Given the description of an element on the screen output the (x, y) to click on. 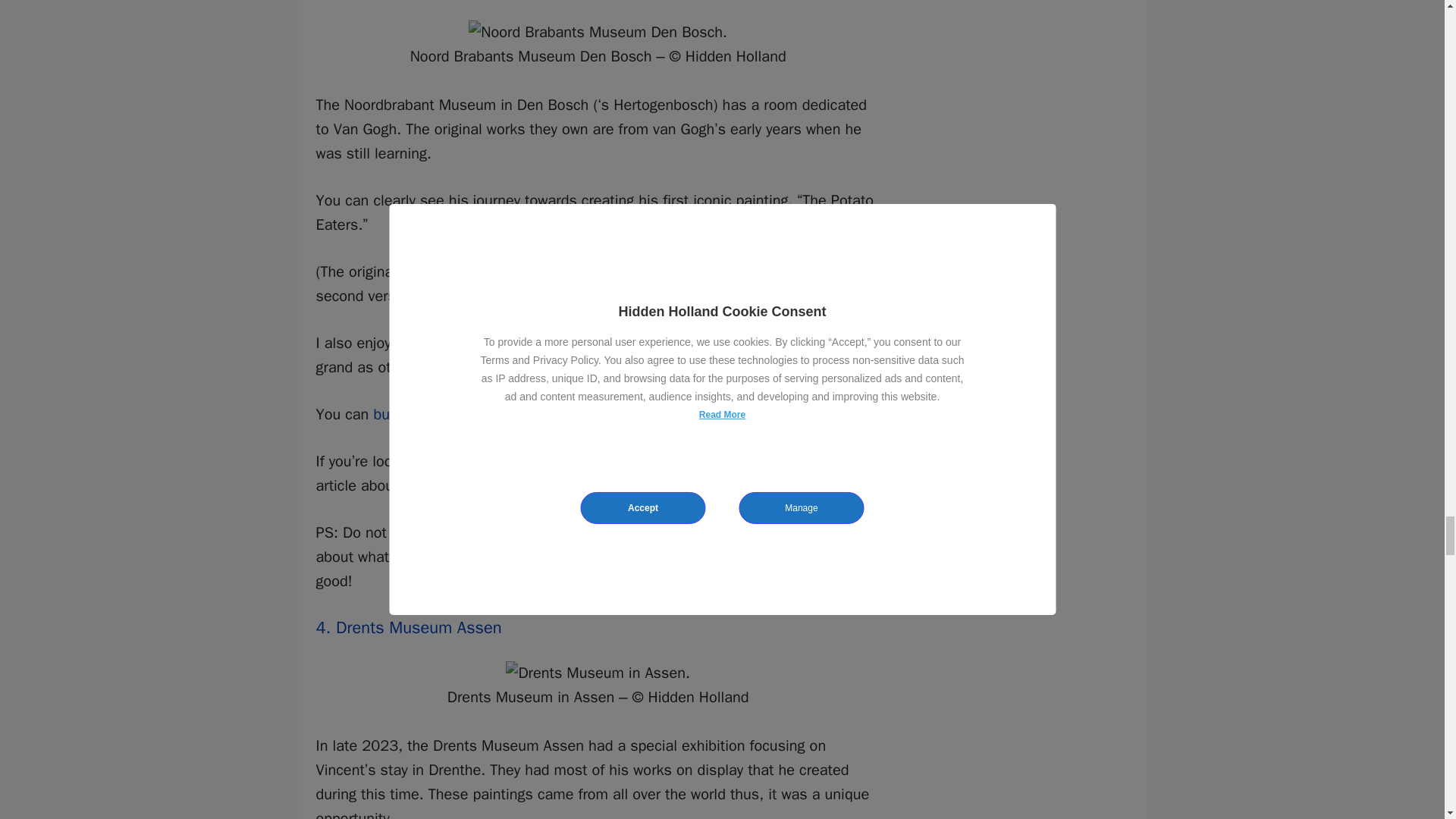
entrace-drentsmuseum-assen (597, 672)
noordbrabants-museum-entrance-den-bosch (597, 32)
